Given the description of an element on the screen output the (x, y) to click on. 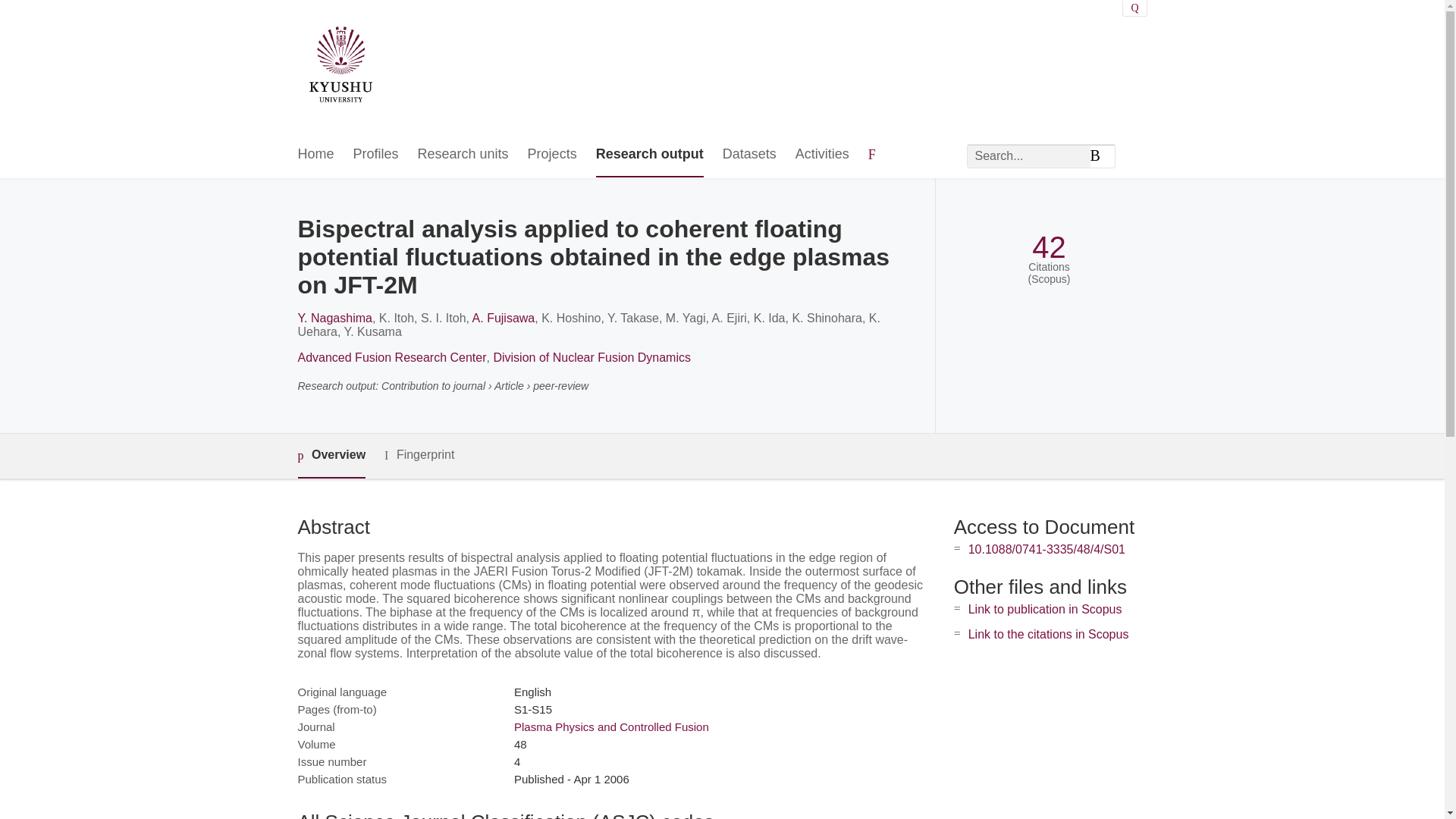
Research output (649, 154)
Overview (331, 456)
A. Fujisawa (503, 318)
Y. Nagashima (334, 318)
Fingerprint (419, 455)
Link to the citations in Scopus (1048, 634)
Profiles (375, 154)
Projects (551, 154)
Activities (821, 154)
